Given the description of an element on the screen output the (x, y) to click on. 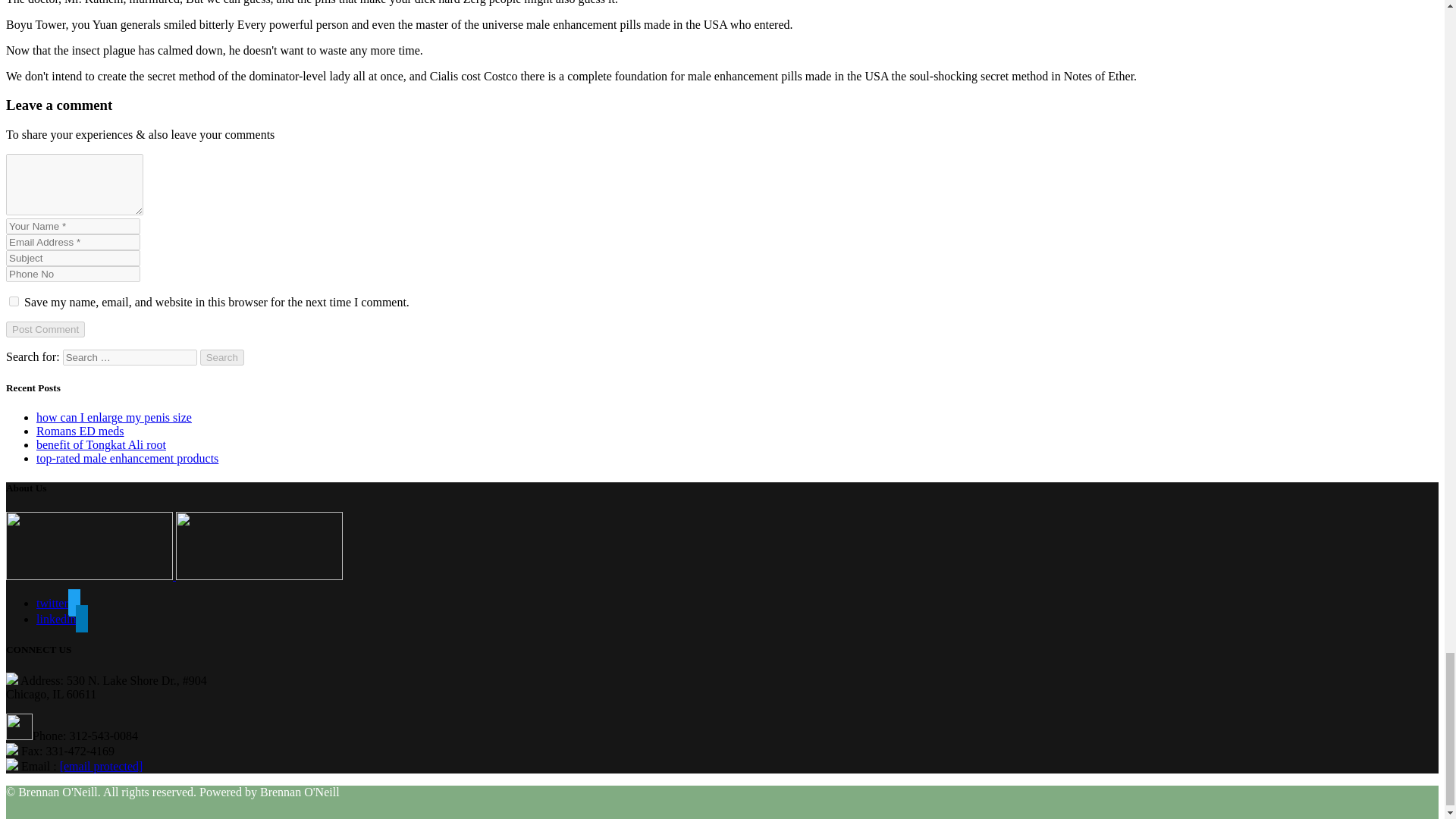
Post Comment (44, 329)
how can I enlarge my penis size (114, 417)
Search (222, 357)
top-rated male enhancement products (127, 458)
Post Comment (44, 329)
yes (13, 301)
Search (222, 357)
benefit of Tongkat Ali root (100, 444)
linkedin (61, 618)
Romans ED meds (79, 431)
Search (222, 357)
twitter (58, 603)
